Given the description of an element on the screen output the (x, y) to click on. 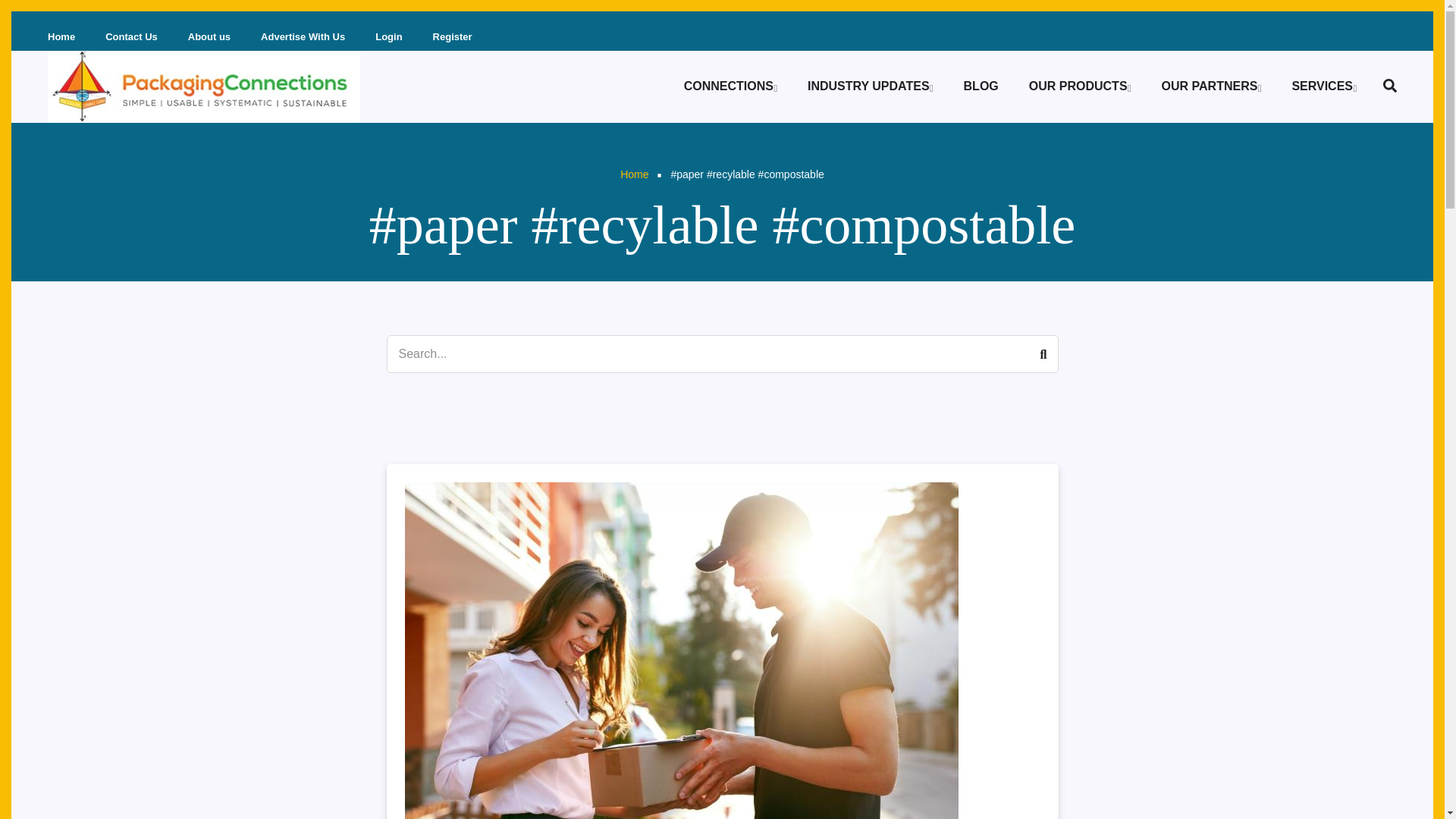
About us (209, 36)
BLOG (981, 86)
Advertise With Us (302, 36)
Home (203, 85)
Home (65, 36)
Enter the terms you wish to search for. (722, 353)
Contact Us (131, 36)
Register (456, 36)
Login (388, 36)
